Given the description of an element on the screen output the (x, y) to click on. 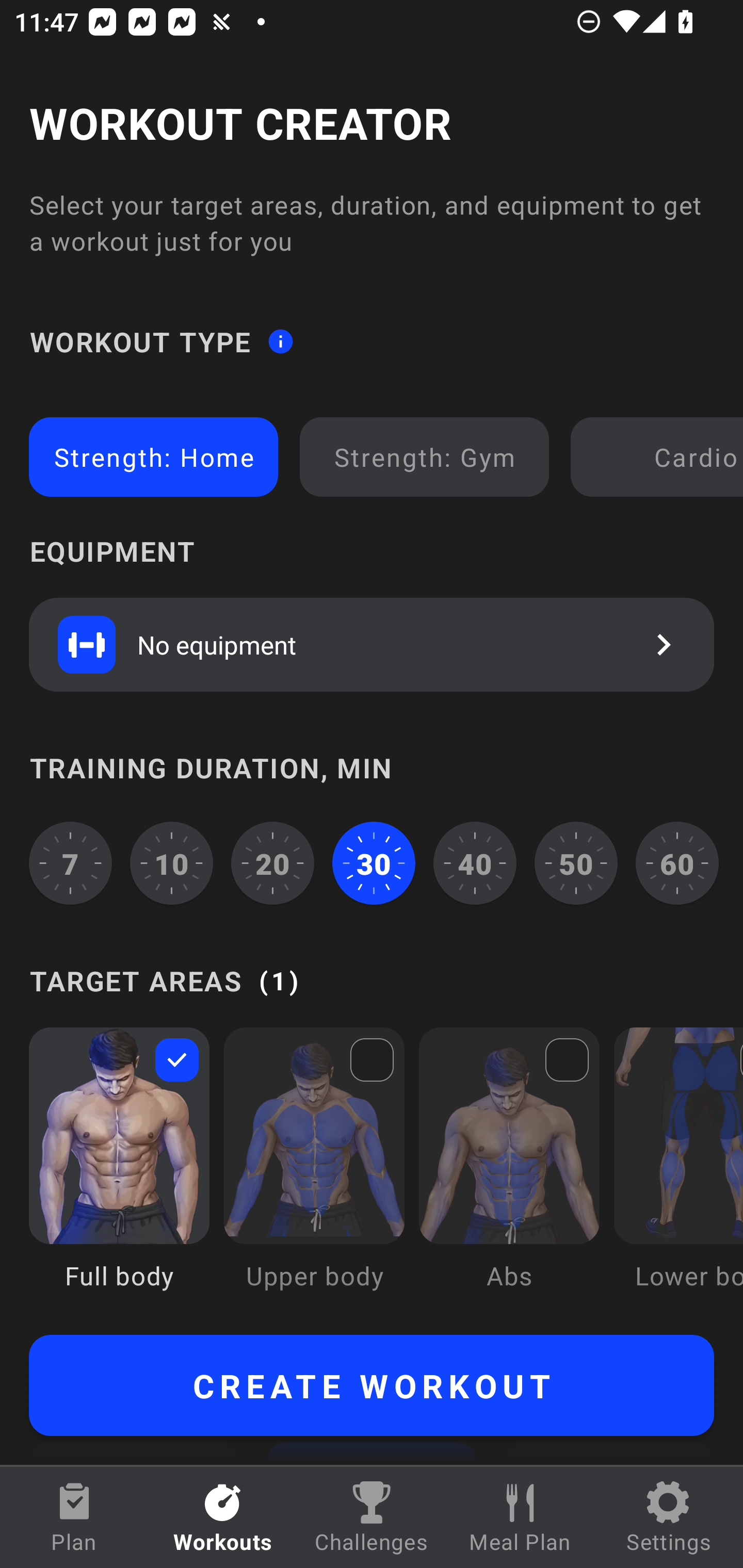
Workout type information button (280, 340)
Strength: Gym (423, 457)
Cardio (660, 457)
No equipment (371, 644)
7 (70, 862)
10 (171, 862)
20 (272, 862)
30 (373, 862)
40 (474, 862)
50 (575, 862)
60 (676, 862)
Upper body (313, 1172)
Abs (509, 1172)
Lower body (678, 1172)
CREATE WORKOUT (371, 1385)
 Plan  (74, 1517)
 Challenges  (371, 1517)
 Meal Plan  (519, 1517)
 Settings  (668, 1517)
